Given the description of an element on the screen output the (x, y) to click on. 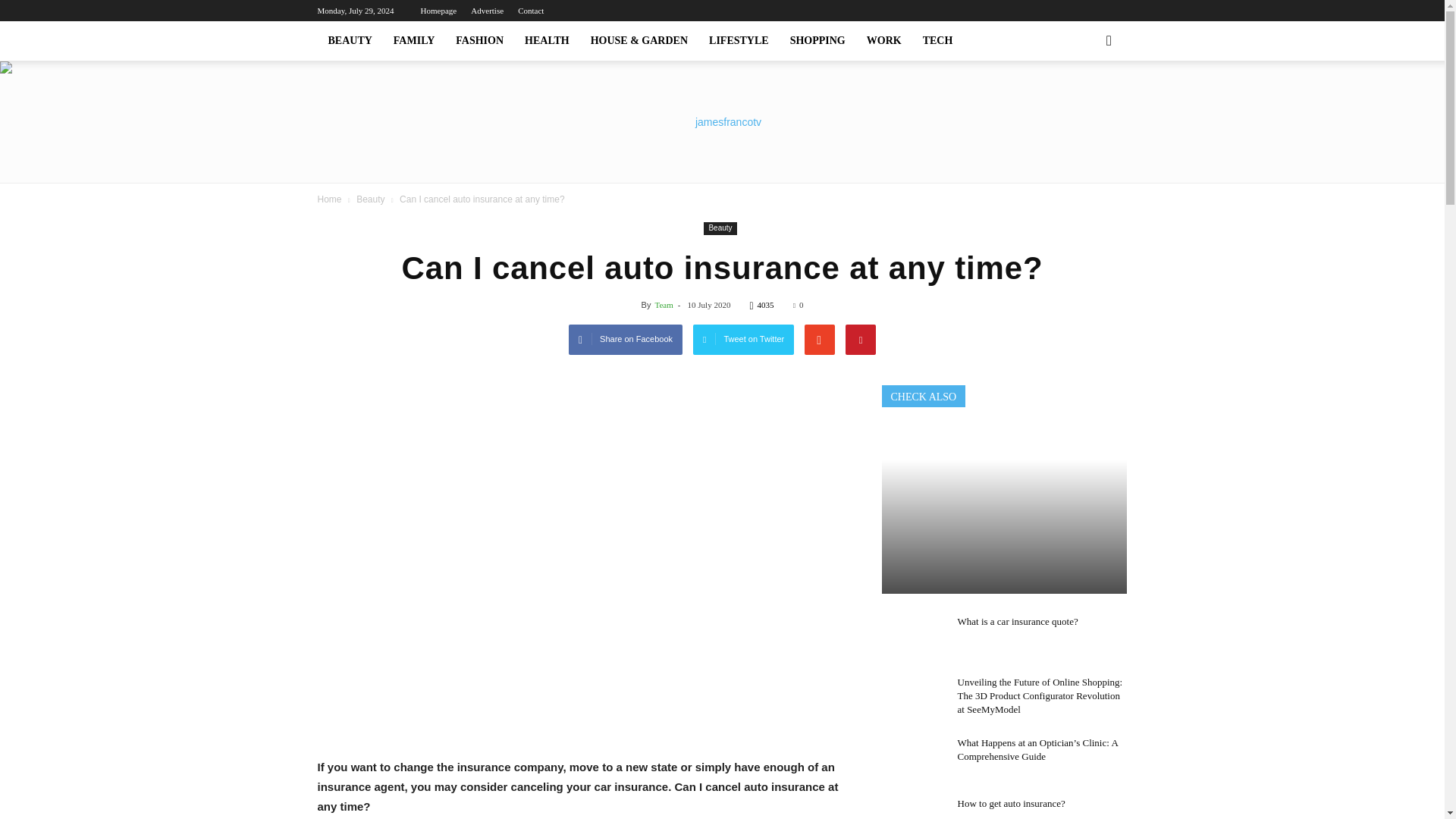
Search (1085, 102)
Can I cancel auto insurance at any time? (1003, 509)
TECH (937, 40)
Contact (530, 10)
HEALTH (546, 40)
Beauty (371, 199)
BEAUTY (349, 40)
FASHION (479, 40)
FAMILY (413, 40)
SHOPPING (817, 40)
0 (798, 304)
Beauty (719, 228)
Share on Facebook (625, 339)
WORK (884, 40)
LIFESTYLE (738, 40)
